Given the description of an element on the screen output the (x, y) to click on. 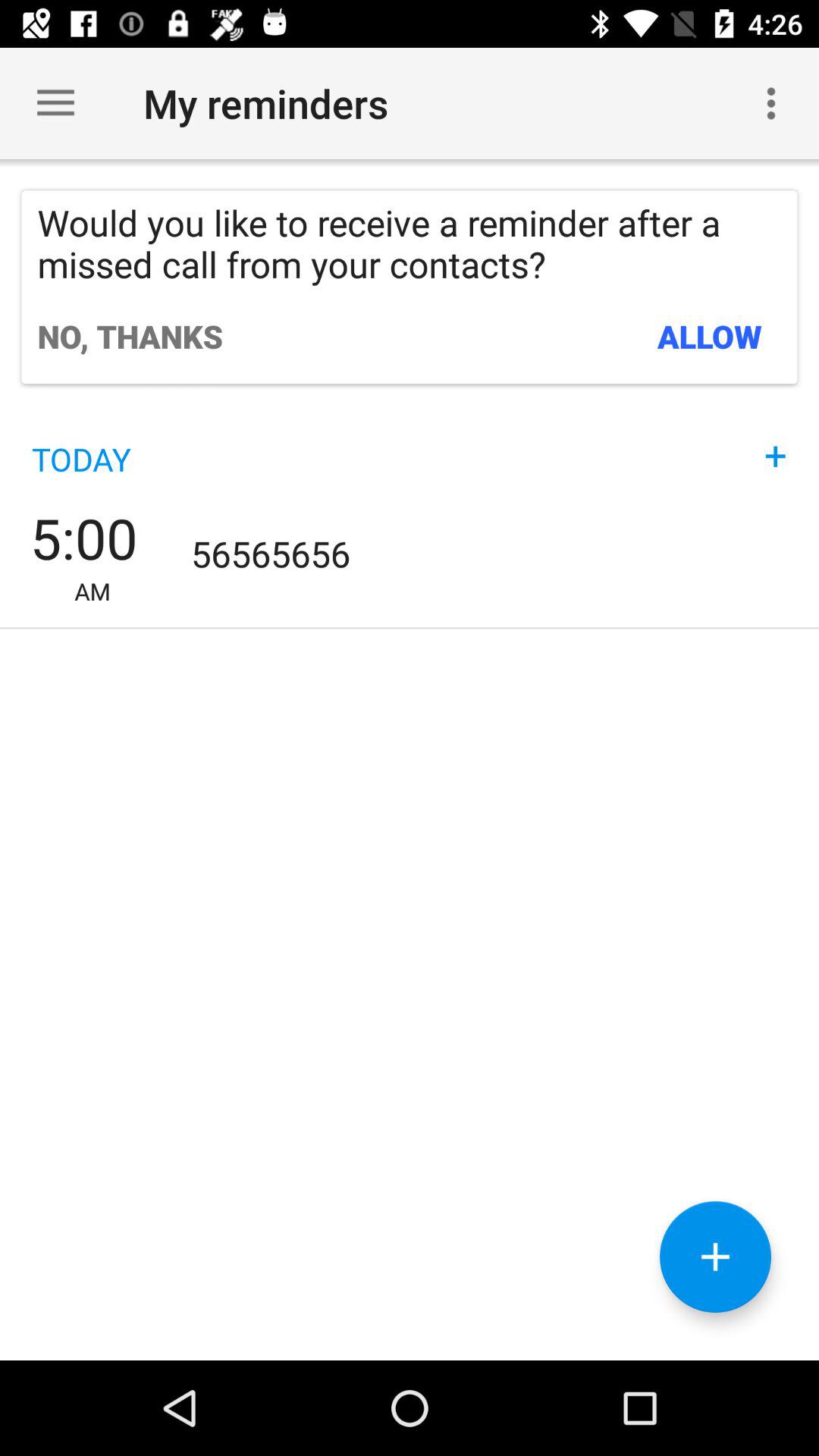
swipe to allow (709, 335)
